Given the description of an element on the screen output the (x, y) to click on. 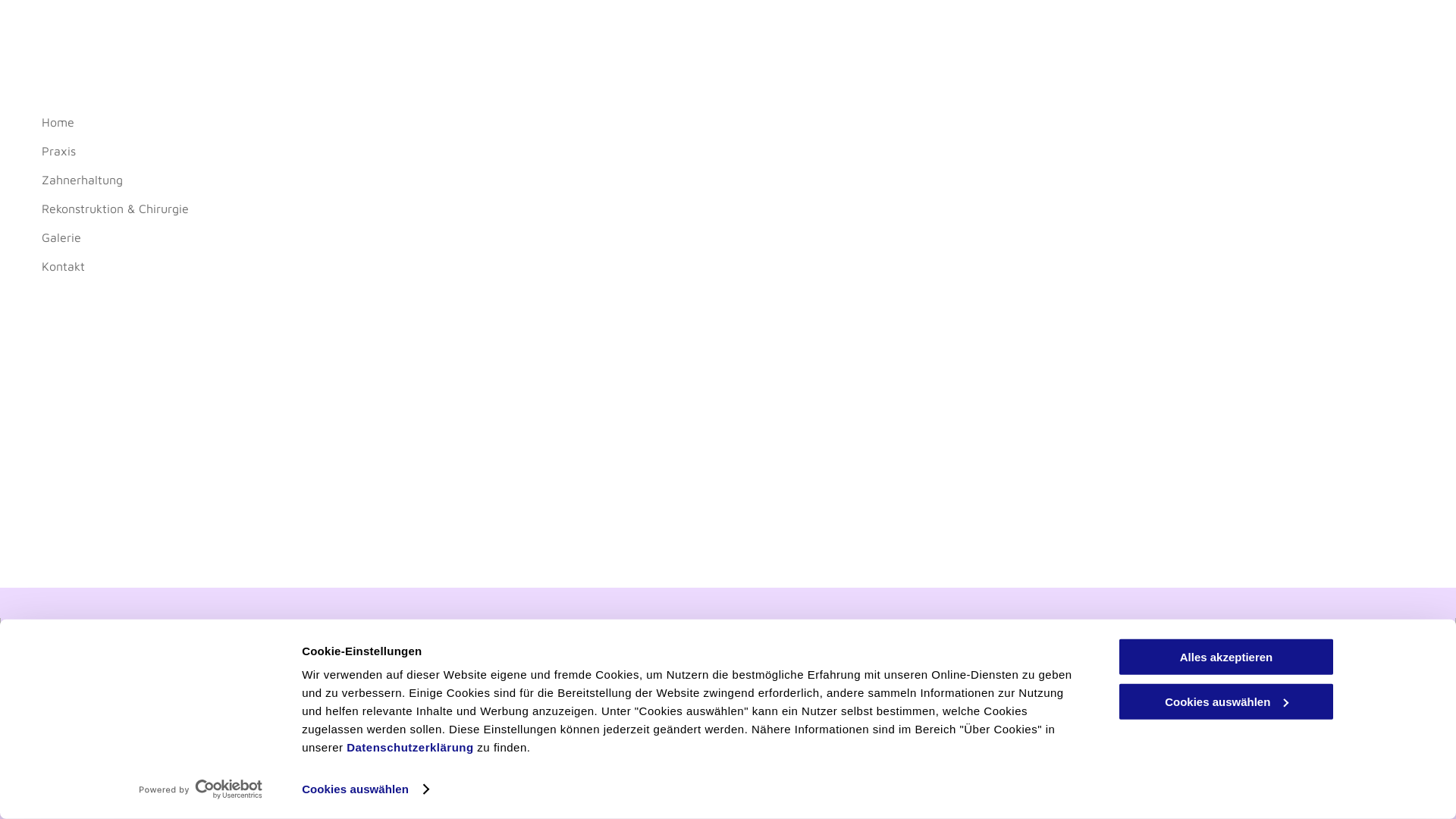
Rekonstruktion & Chirurgie Element type: text (1212, 805)
Galerie Element type: text (1342, 805)
Alles akzeptieren Element type: text (1225, 656)
Praxis Element type: text (967, 805)
Kontakt Element type: text (1410, 805)
Rekonstruktion & Chirurgie Element type: text (386, 208)
Home Element type: text (909, 805)
Kontakt Element type: text (386, 265)
Zahnarzt-Praxis Isabelle Prostka in Courtepin Element type: text (334, 745)
Home Element type: text (386, 121)
Galerie Element type: text (386, 236)
Zahnerhaltung Element type: text (386, 179)
Praxis Element type: text (386, 150)
Zahnerhaltung Element type: text (1055, 805)
Zahnarzt-Praxis Isabelle Prostka in Courtepin Element type: text (331, 656)
